Given the description of an element on the screen output the (x, y) to click on. 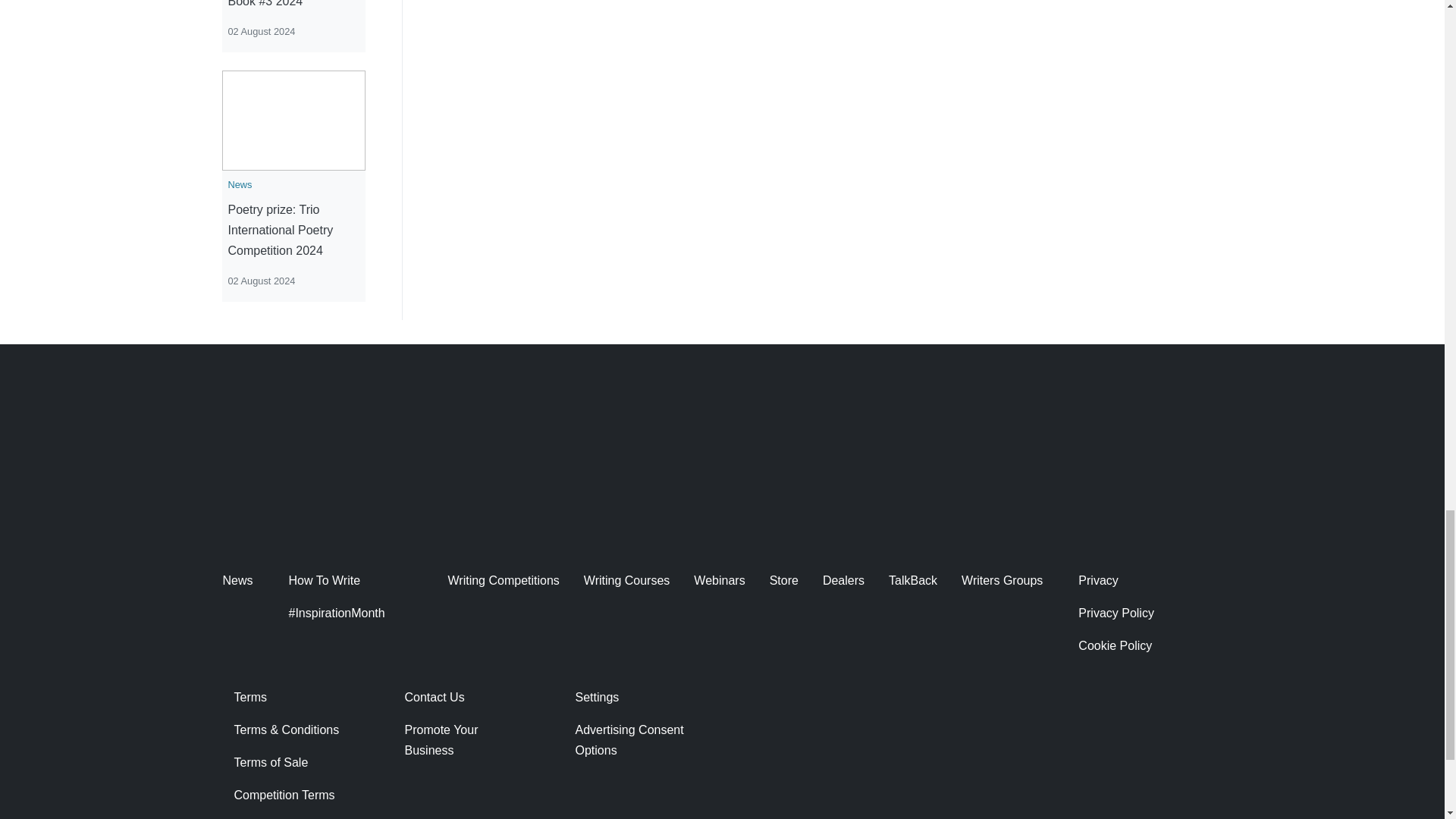
View your Advertising Consent options for this website (636, 739)
